Given the description of an element on the screen output the (x, y) to click on. 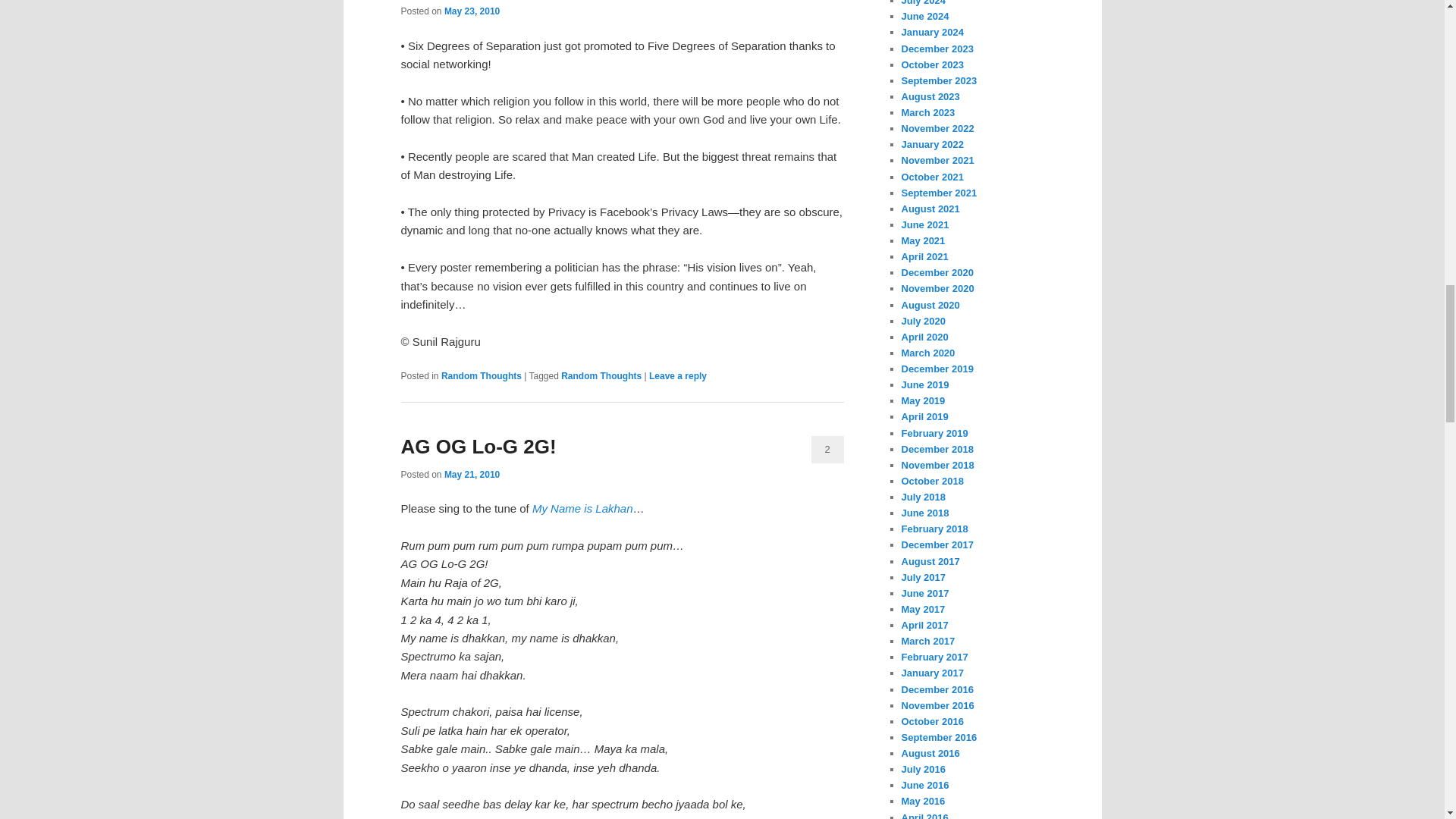
Random Thoughts (601, 376)
May 21, 2010 (471, 474)
AG OG Lo-G 2G! (478, 445)
May 23, 2010 (471, 10)
Random Thoughts (481, 376)
Leave a reply (677, 376)
